Given the description of an element on the screen output the (x, y) to click on. 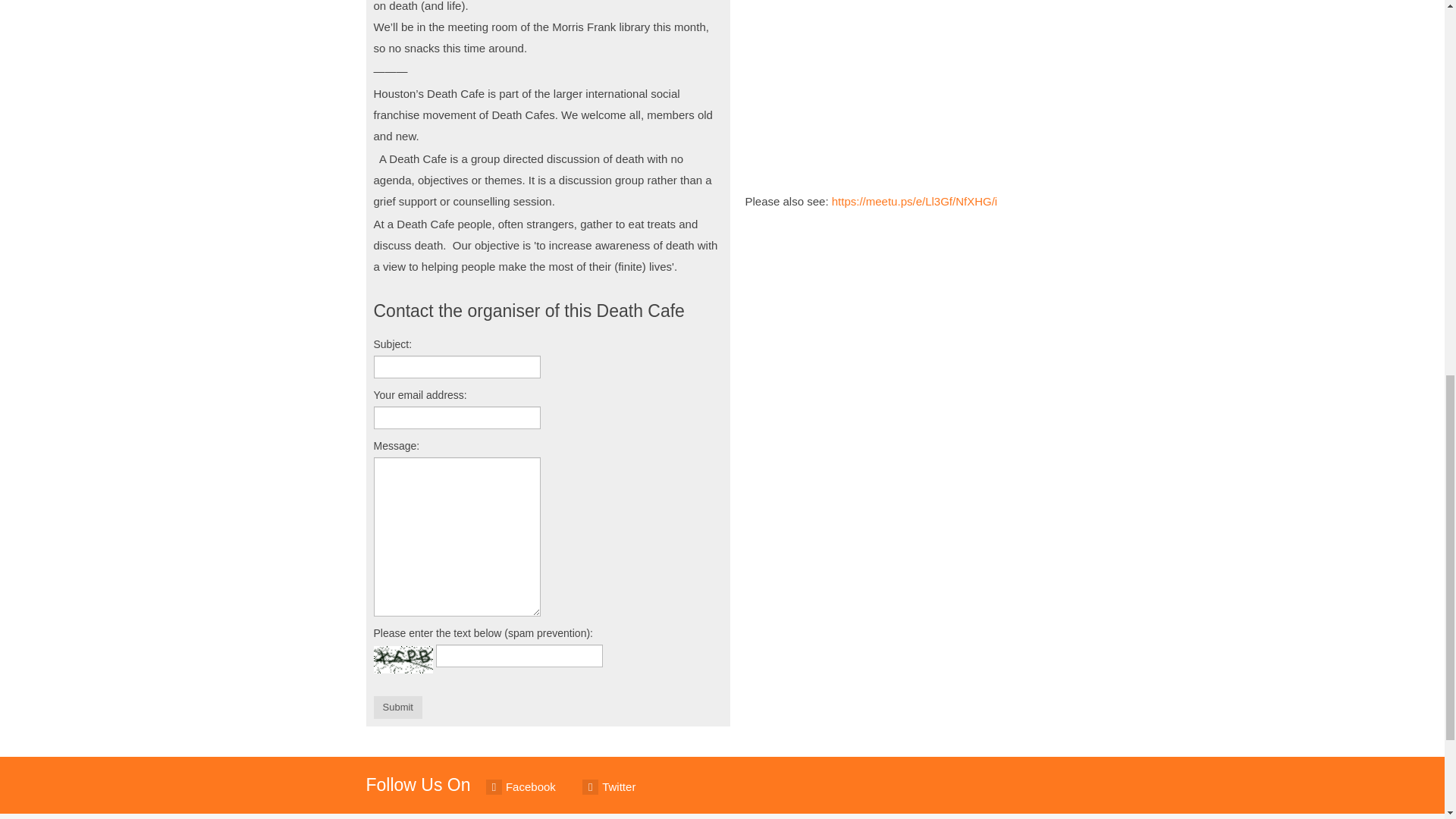
Facebook (521, 786)
Twitter (608, 786)
Submit (397, 707)
